Given the description of an element on the screen output the (x, y) to click on. 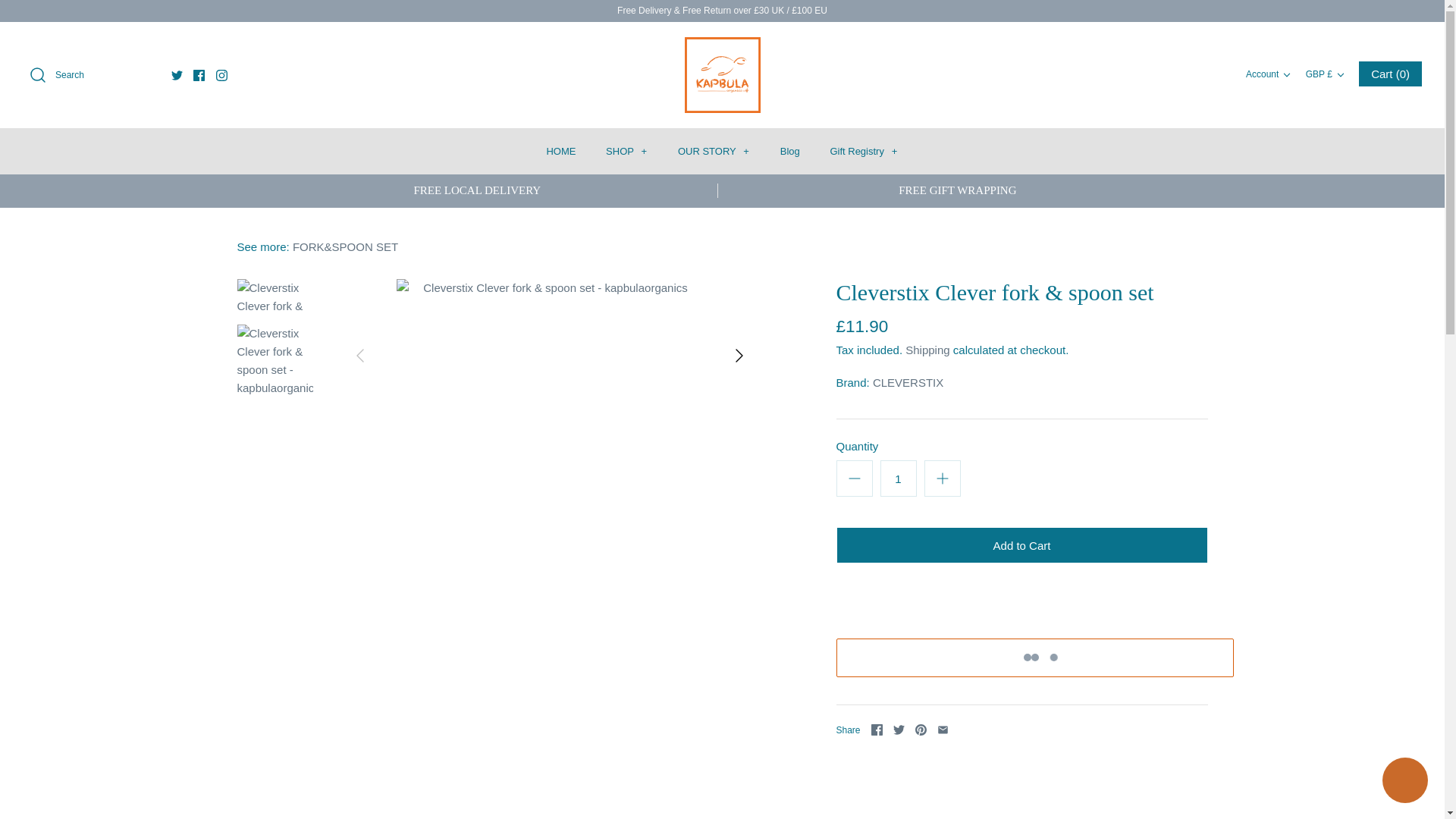
Facebook (199, 75)
Plus (941, 478)
Facebook (199, 75)
Pin the main image (920, 729)
1 (897, 478)
Instagram (221, 75)
Add to Cart (1021, 545)
Twitter (177, 75)
Account (1270, 73)
Share on Facebook (876, 729)
